Given the description of an element on the screen output the (x, y) to click on. 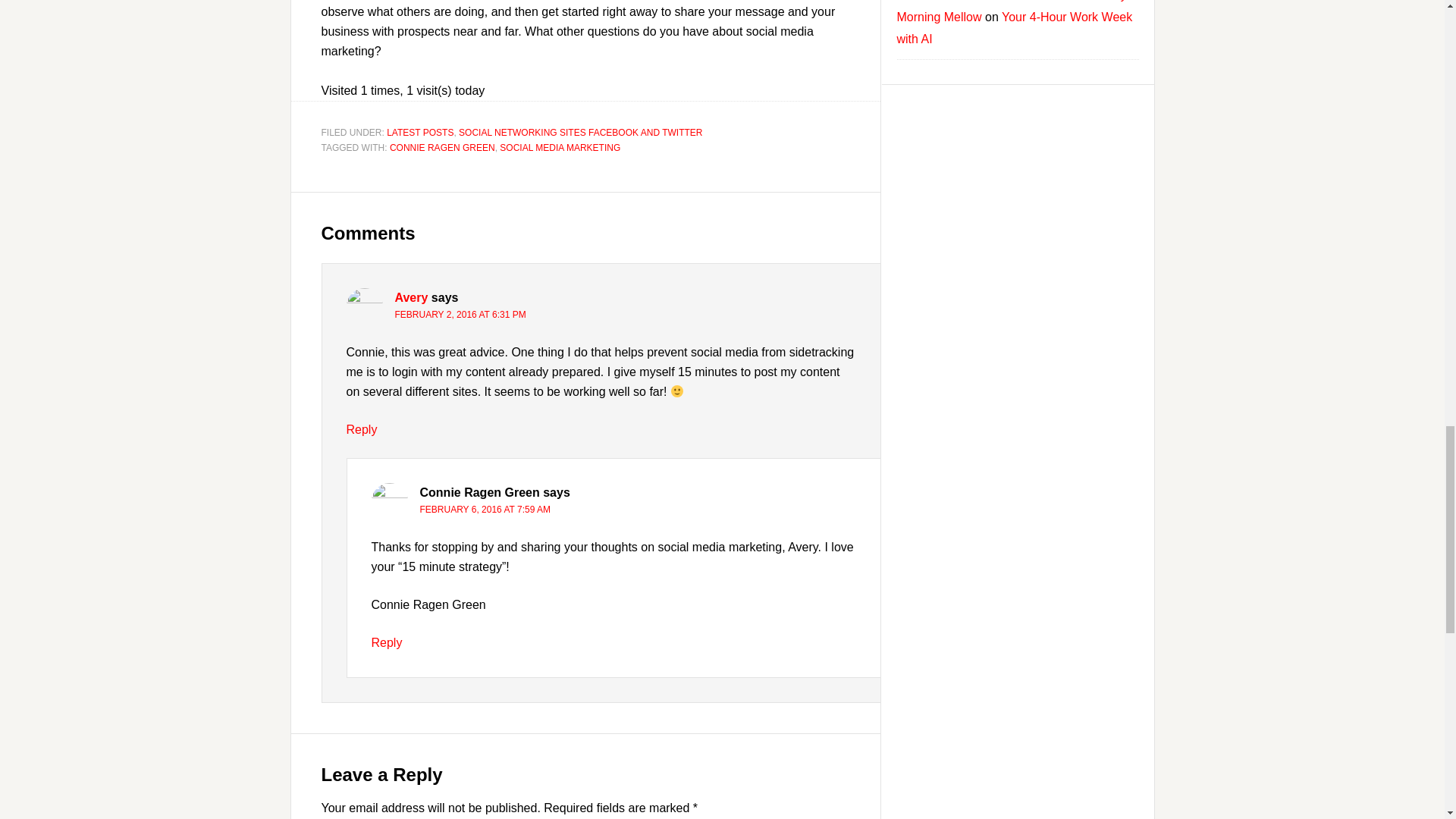
SOCIAL NETWORKING SITES FACEBOOK AND TWITTER (579, 132)
Reply (361, 429)
FEBRUARY 2, 2016 AT 6:31 PM (459, 314)
CONNIE RAGEN GREEN (442, 147)
SOCIAL MEDIA MARKETING (559, 147)
Your 4-Hour Work Week with AI (1014, 27)
Reply (387, 642)
Avery (411, 297)
FEBRUARY 6, 2016 AT 7:59 AM (485, 509)
LATEST POSTS (419, 132)
